Given the description of an element on the screen output the (x, y) to click on. 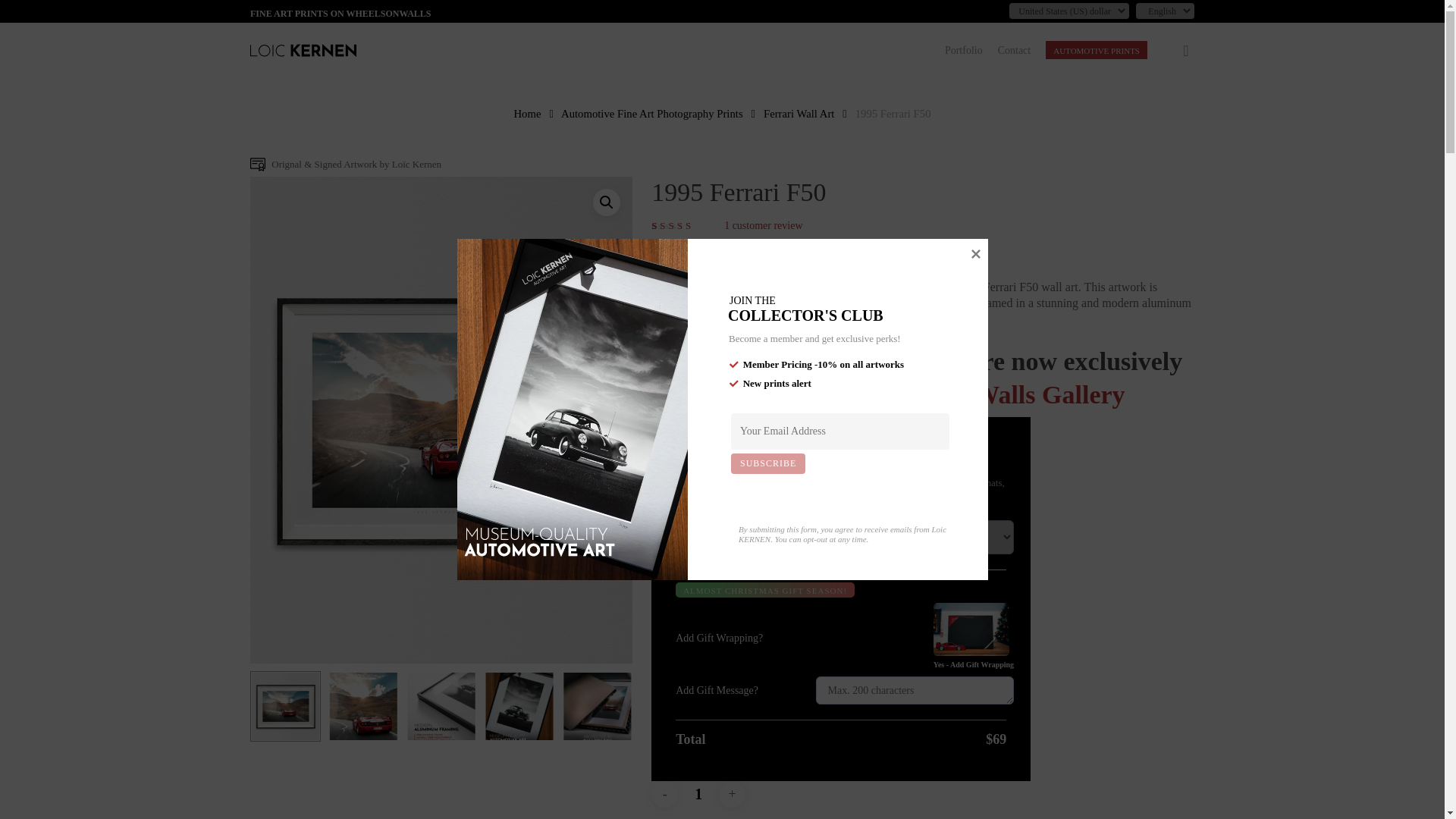
Portfolio (963, 49)
Loic Kernen - Automotive Photographer from France (303, 50)
Ferrari Wall Art (798, 113)
Subscribe (767, 463)
Contact (1013, 49)
1 (698, 794)
Automotive Fine Art Photography Prints (651, 113)
Automotive Prints (1096, 49)
1 customer review (762, 225)
FINE ART PRINTS ON WHEELSONWALLS (340, 13)
AUTOMOTIVE PRINTS (1096, 49)
- (664, 794)
Home (526, 113)
Contact Loic Kernen (1013, 49)
